Given the description of an element on the screen output the (x, y) to click on. 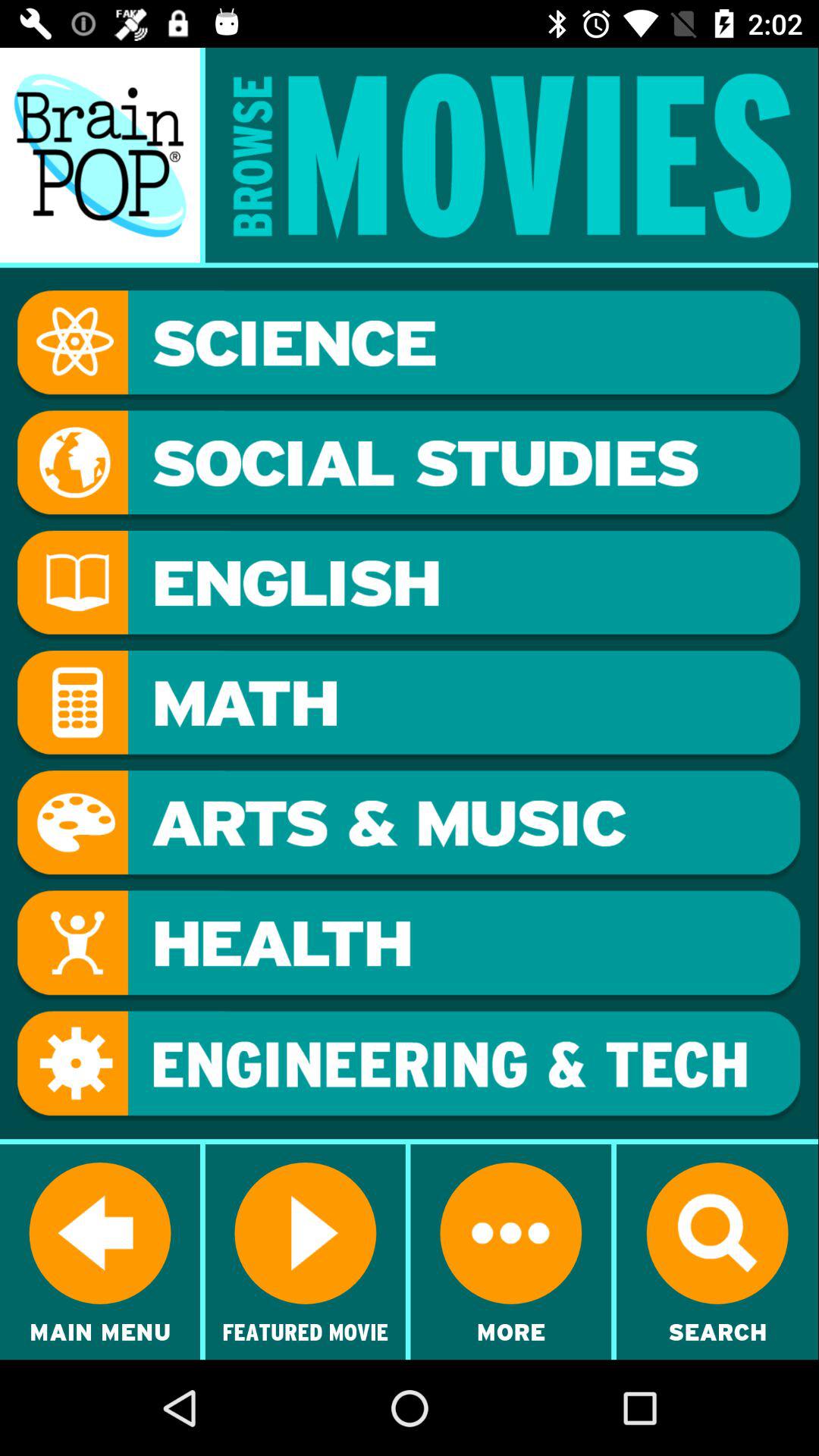
go to math option (408, 704)
